Given the description of an element on the screen output the (x, y) to click on. 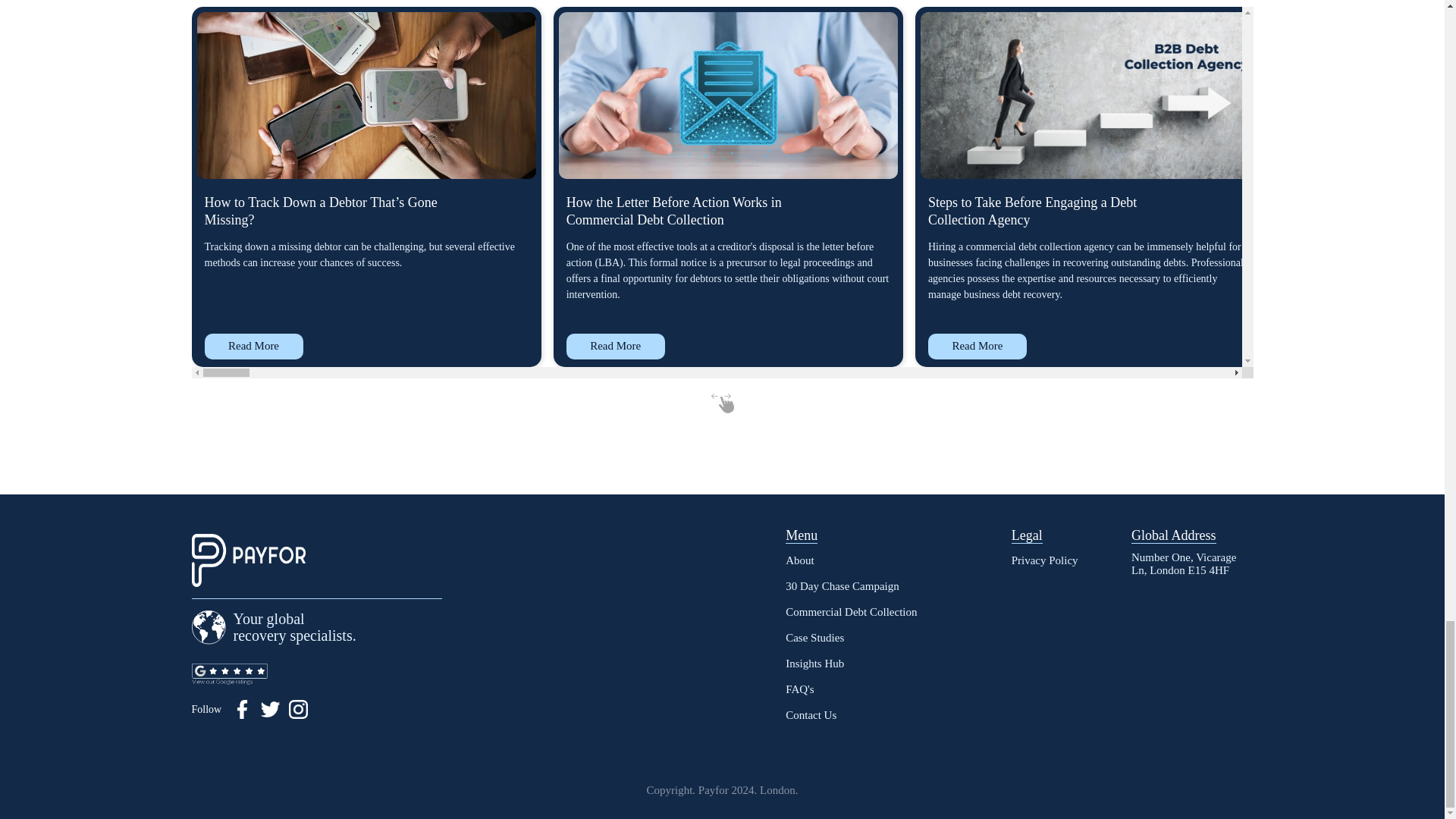
Read More (253, 346)
Read More (977, 346)
Read More (615, 346)
Read More (1339, 346)
